Given the description of an element on the screen output the (x, y) to click on. 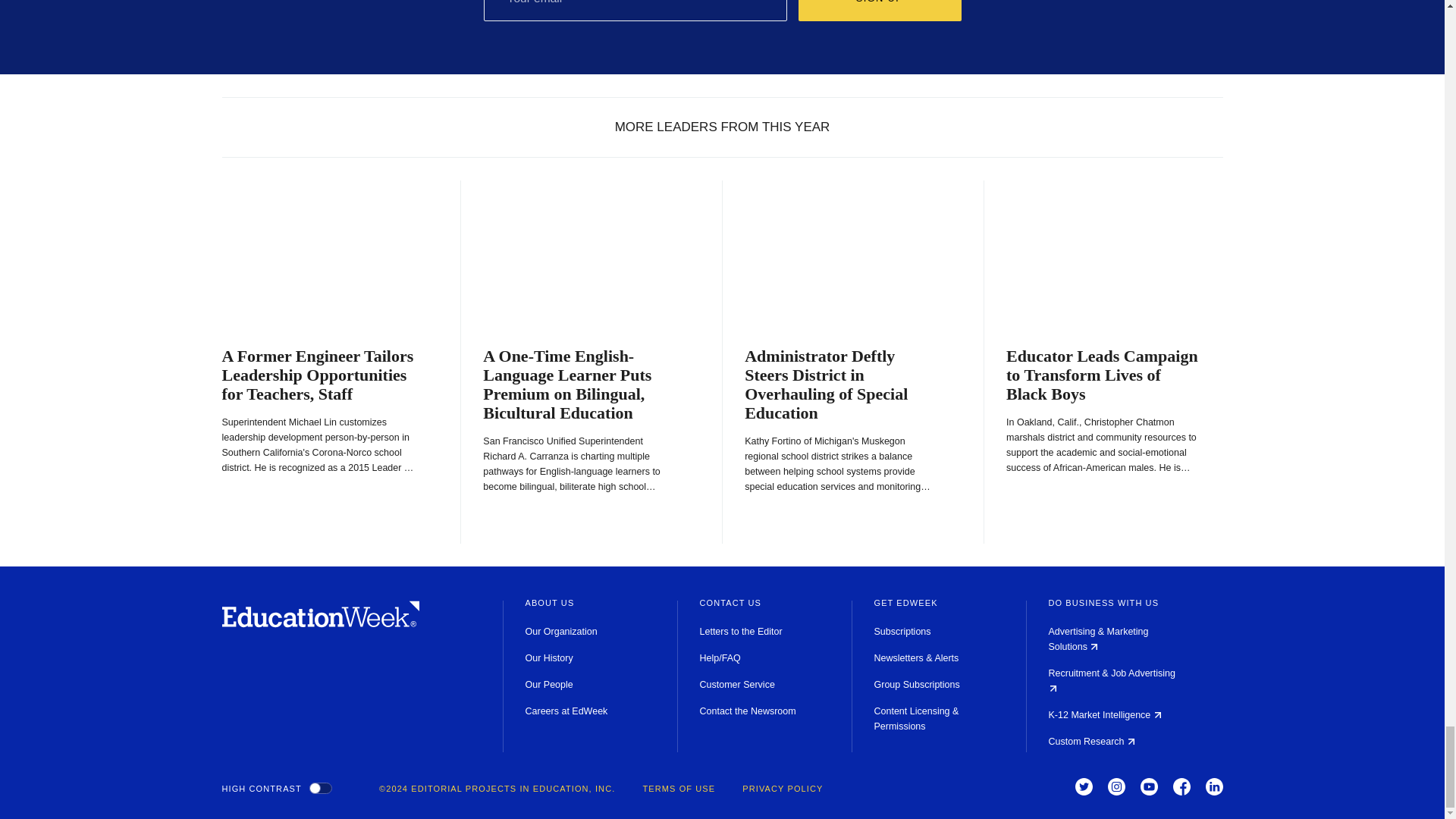
Homepage (320, 623)
